Given the description of an element on the screen output the (x, y) to click on. 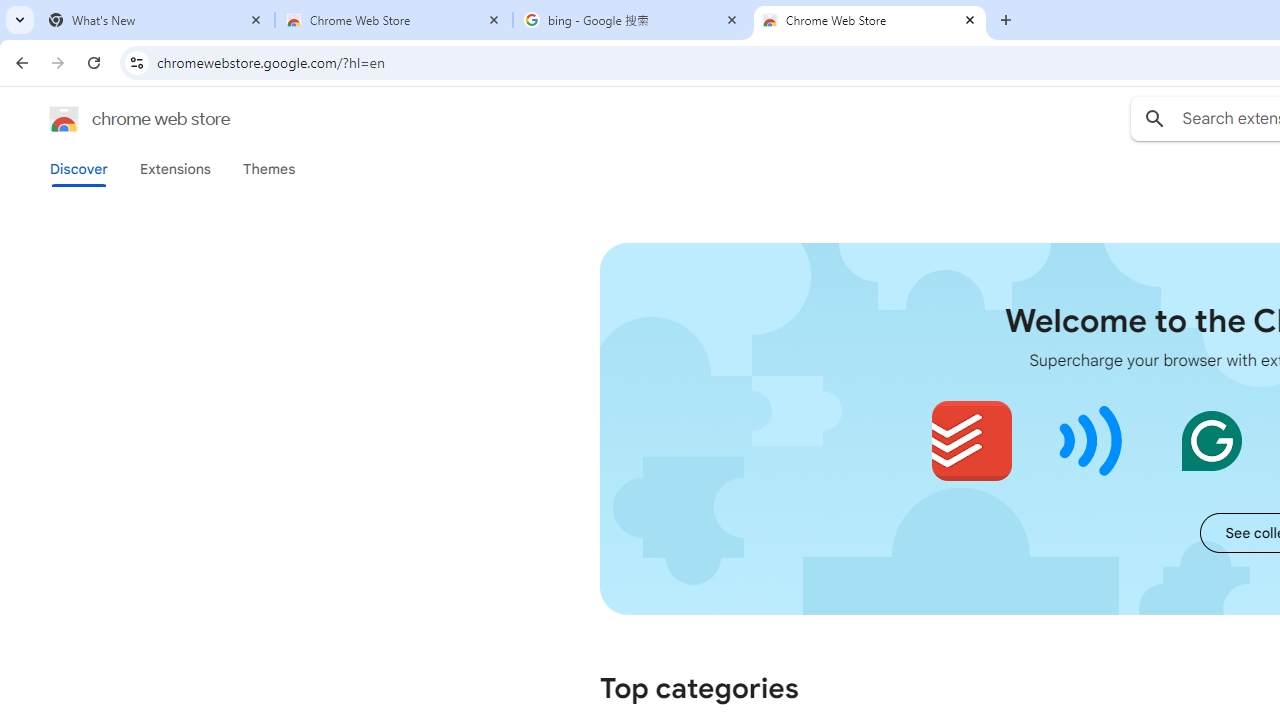
Grammarly: AI Writing and Grammar Checker App (1211, 440)
Todoist for Chrome (971, 440)
Discover (79, 169)
